Given the description of an element on the screen output the (x, y) to click on. 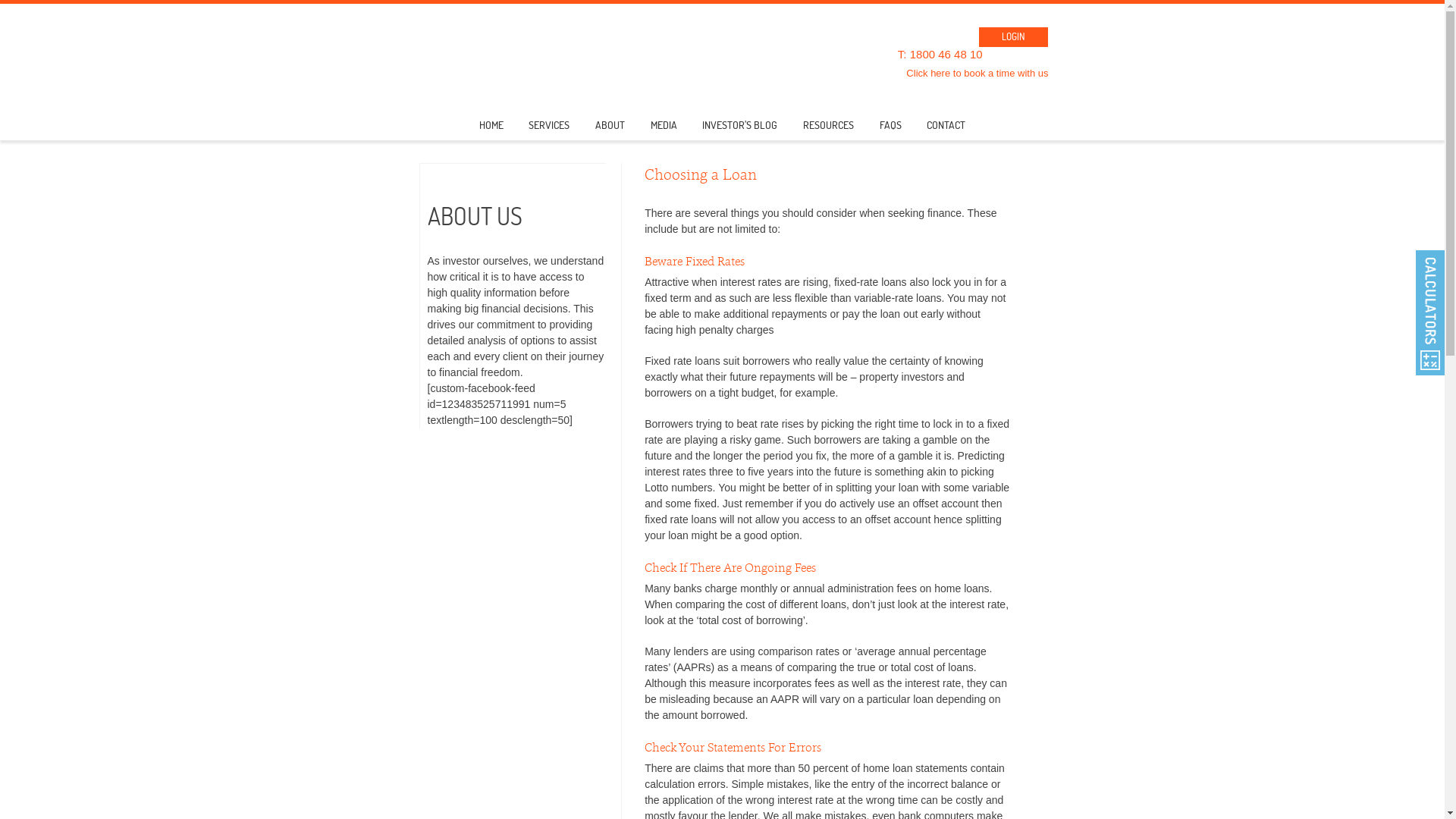
T: 1800 46 48 10 Element type: text (939, 53)
Click here to book a time with us Element type: text (977, 72)
MEDIA Element type: text (663, 129)
LOGIN Element type: text (1013, 36)
CONTACT Element type: text (945, 129)
RESOURCES Element type: text (828, 129)
SERVICES Element type: text (548, 129)
FAQS Element type: text (890, 129)
ABOUT Element type: text (609, 129)
HOME Element type: text (491, 129)
